Given the description of an element on the screen output the (x, y) to click on. 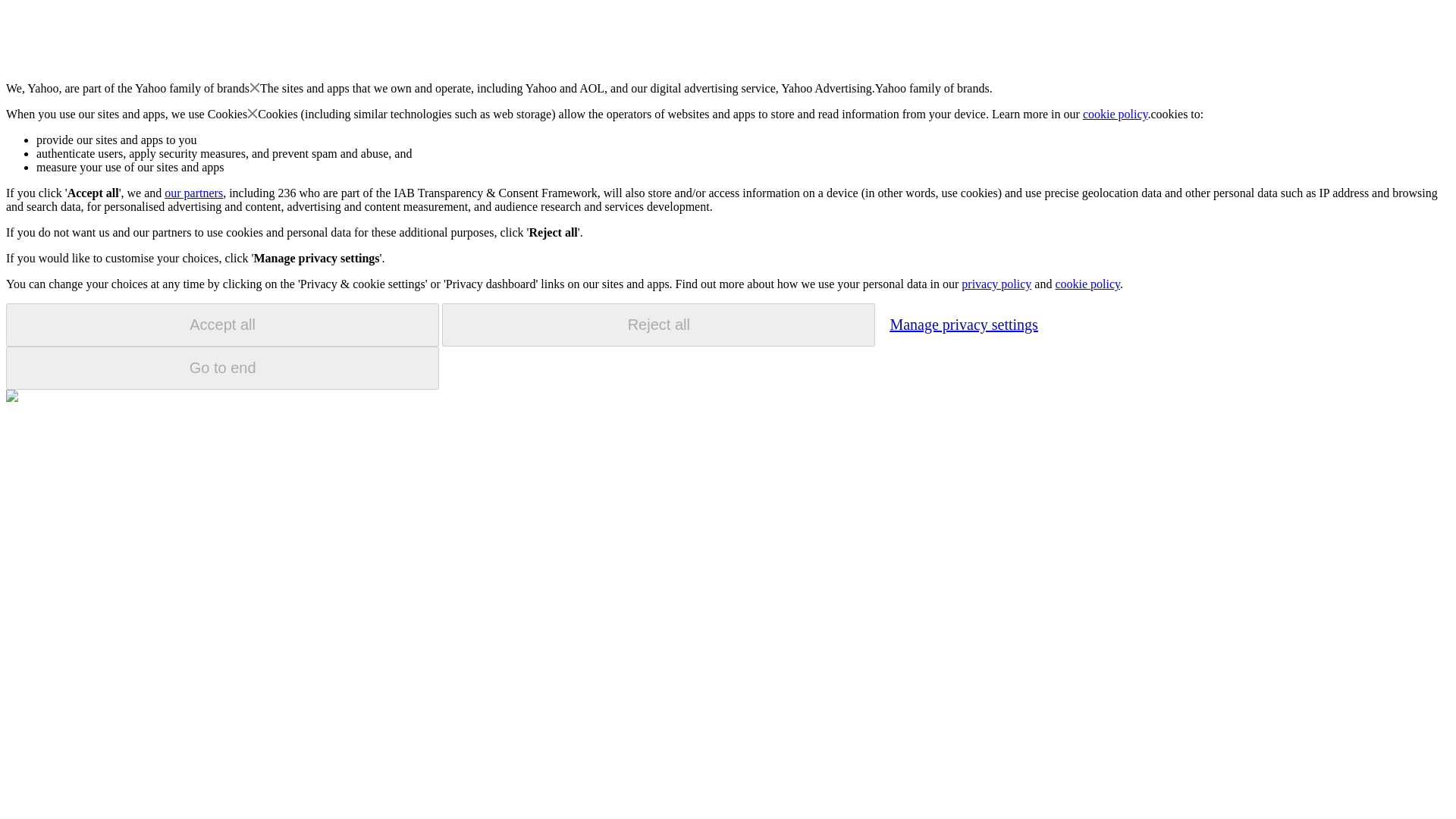
Go to end (222, 367)
our partners (193, 192)
cookie policy (1115, 113)
Manage privacy settings (963, 323)
Reject all (658, 324)
privacy policy (995, 283)
cookie policy (1086, 283)
Accept all (222, 324)
